Given the description of an element on the screen output the (x, y) to click on. 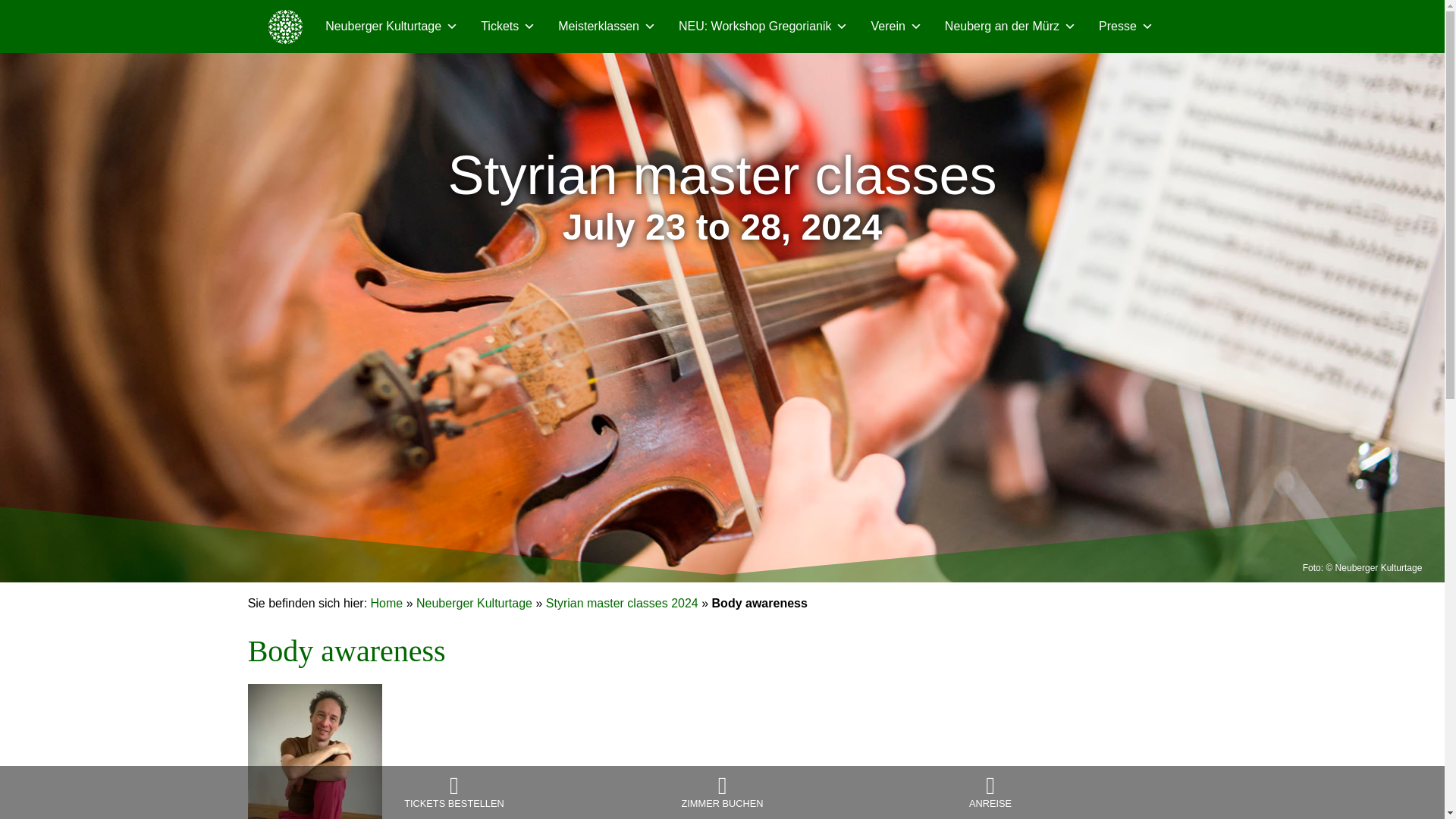
Neuberger Kulturtage (391, 26)
Verein (895, 26)
Tickets (507, 26)
NEU: Workshop Gregorianik (763, 26)
Meisterklassen (606, 26)
